Given the description of an element on the screen output the (x, y) to click on. 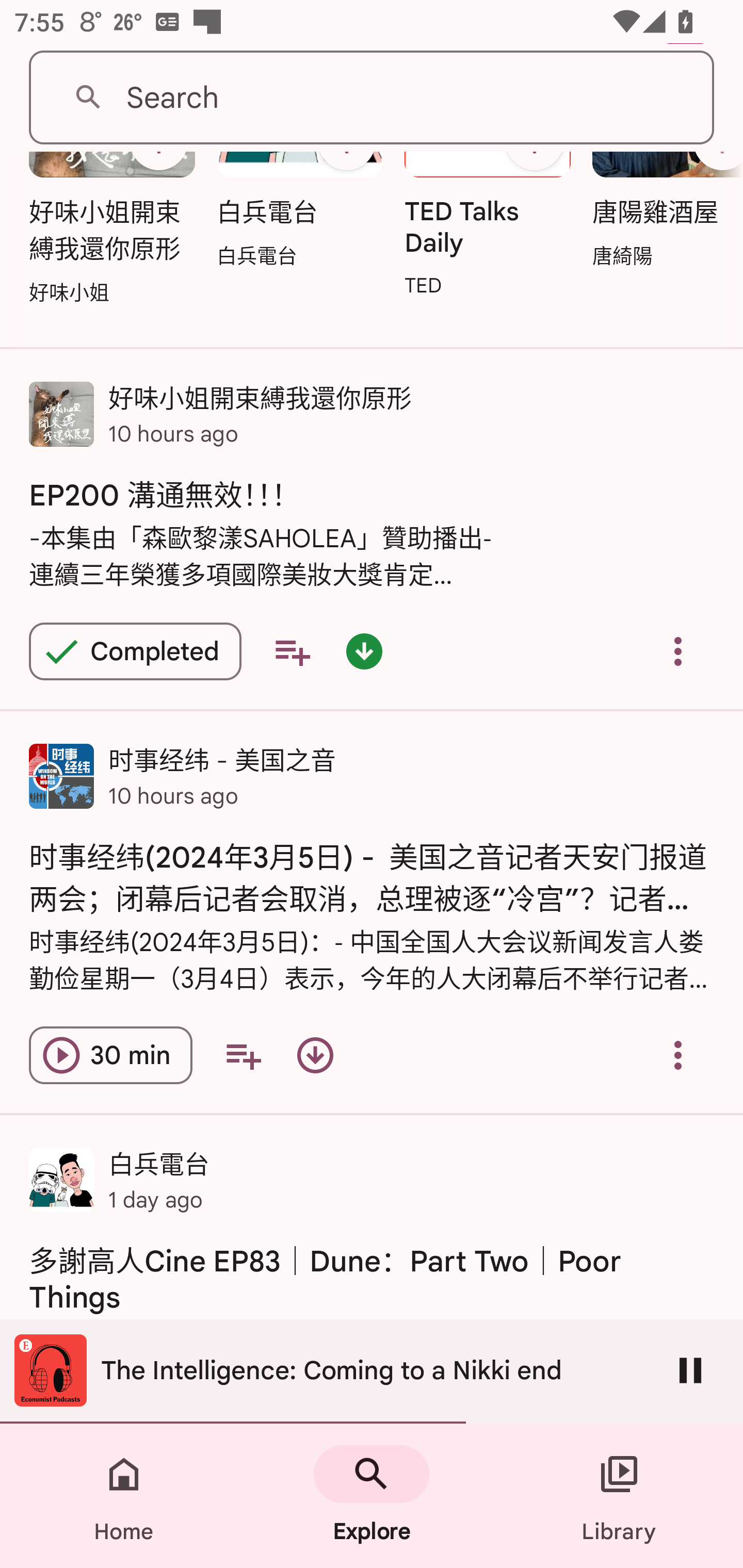
Search (371, 97)
好味小姐開束縛我還你原形 Subscribe 好味小姐開束縛我還你原形 好味小姐 (111, 235)
白兵電台 Subscribe 白兵電台 白兵電台 (299, 217)
TED Talks Daily Subscribe TED Talks Daily TED (487, 231)
唐陽雞酒屋 Subscribe 唐陽雞酒屋 唐綺陽 (662, 217)
Play episode EP200 溝通無效！！！ Completed (134, 651)
Add to your queue (291, 651)
Episode downloaded - double tap for options (364, 651)
Overflow menu (677, 651)
Add to your queue (242, 1055)
Download episode (315, 1055)
Overflow menu (677, 1055)
Pause (690, 1370)
Home (123, 1495)
Library (619, 1495)
